Given the description of an element on the screen output the (x, y) to click on. 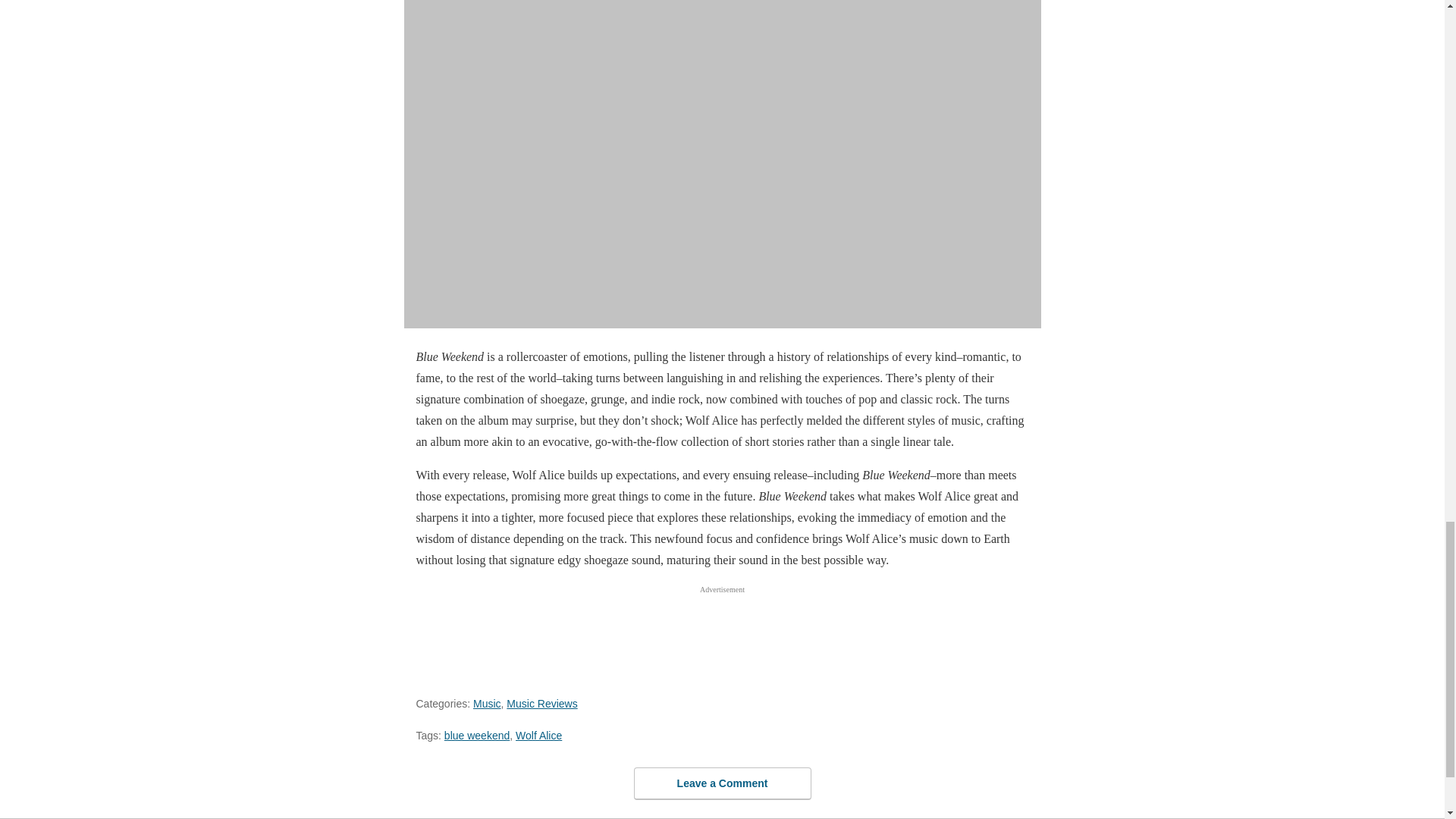
Wolf Alice (538, 735)
blue weekend (476, 735)
Leave a Comment (721, 783)
Music Reviews (541, 703)
Music (486, 703)
